Given the description of an element on the screen output the (x, y) to click on. 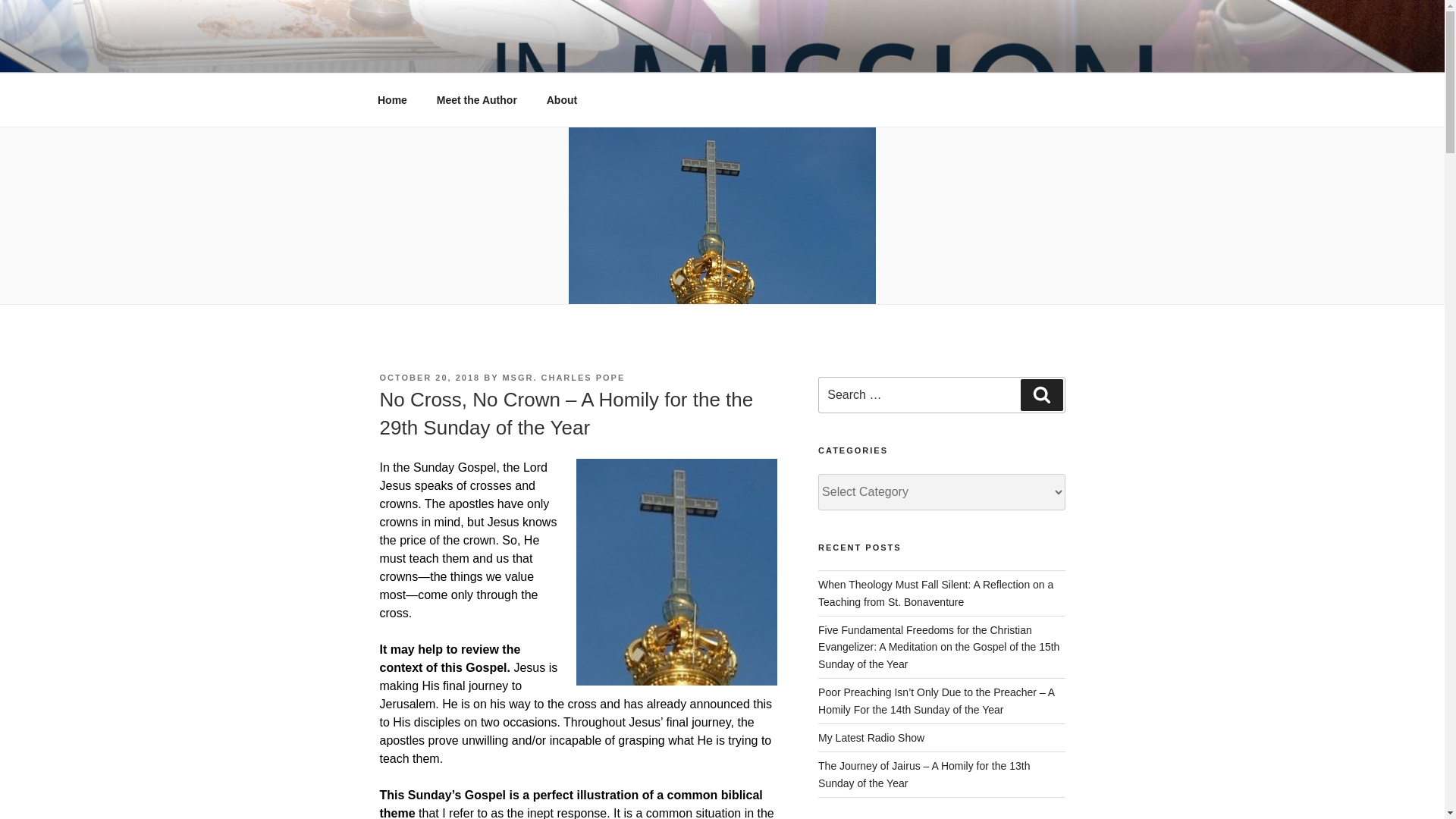
About (560, 99)
COMMUNITY IN MISSION (563, 52)
My Latest Radio Show (871, 737)
OCTOBER 20, 2018 (429, 377)
Meet the Author (476, 99)
MSGR. CHARLES POPE (563, 377)
Home (392, 99)
Search (1041, 395)
